Given the description of an element on the screen output the (x, y) to click on. 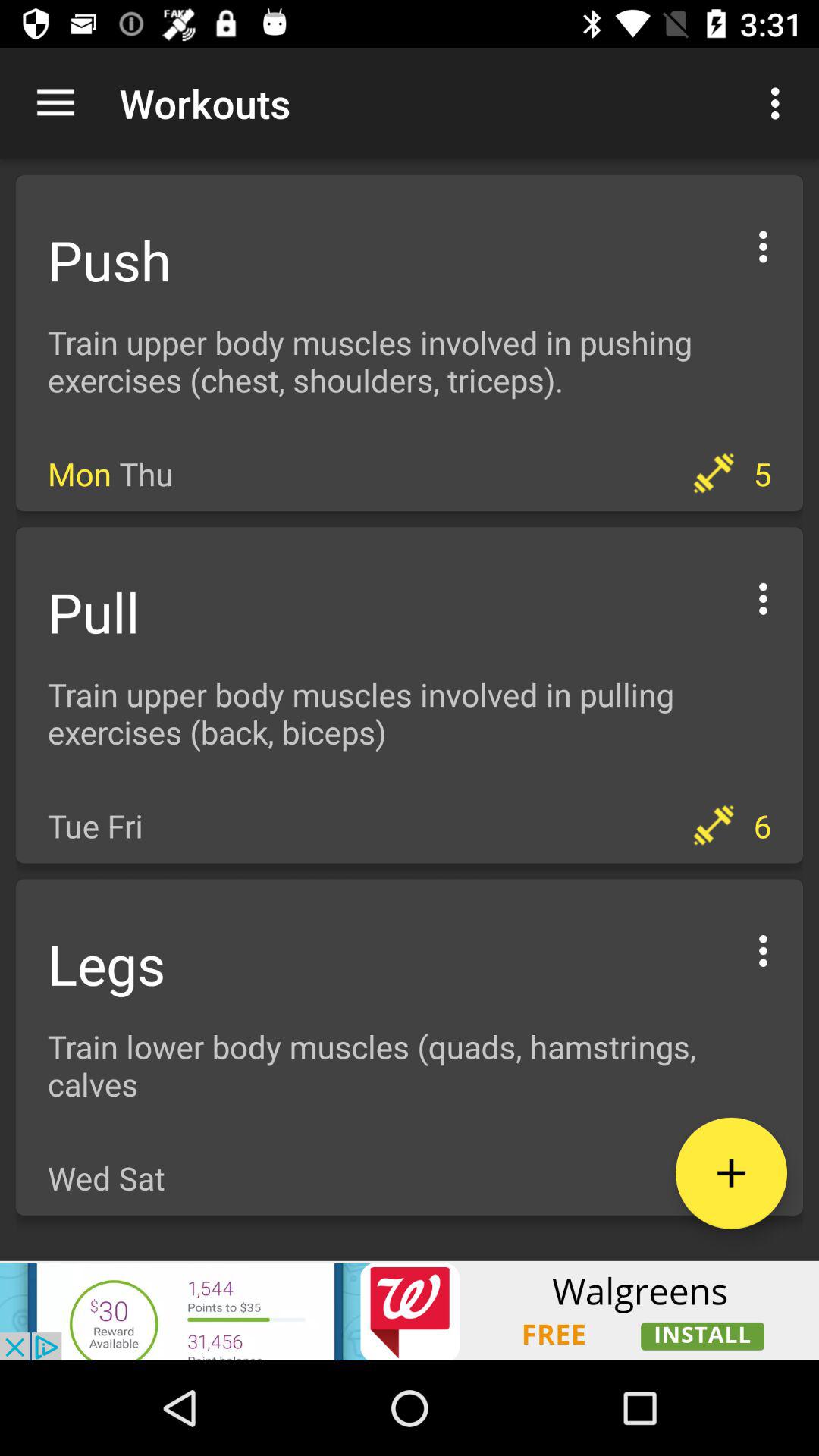
toggle autoplay option (763, 596)
